Given the description of an element on the screen output the (x, y) to click on. 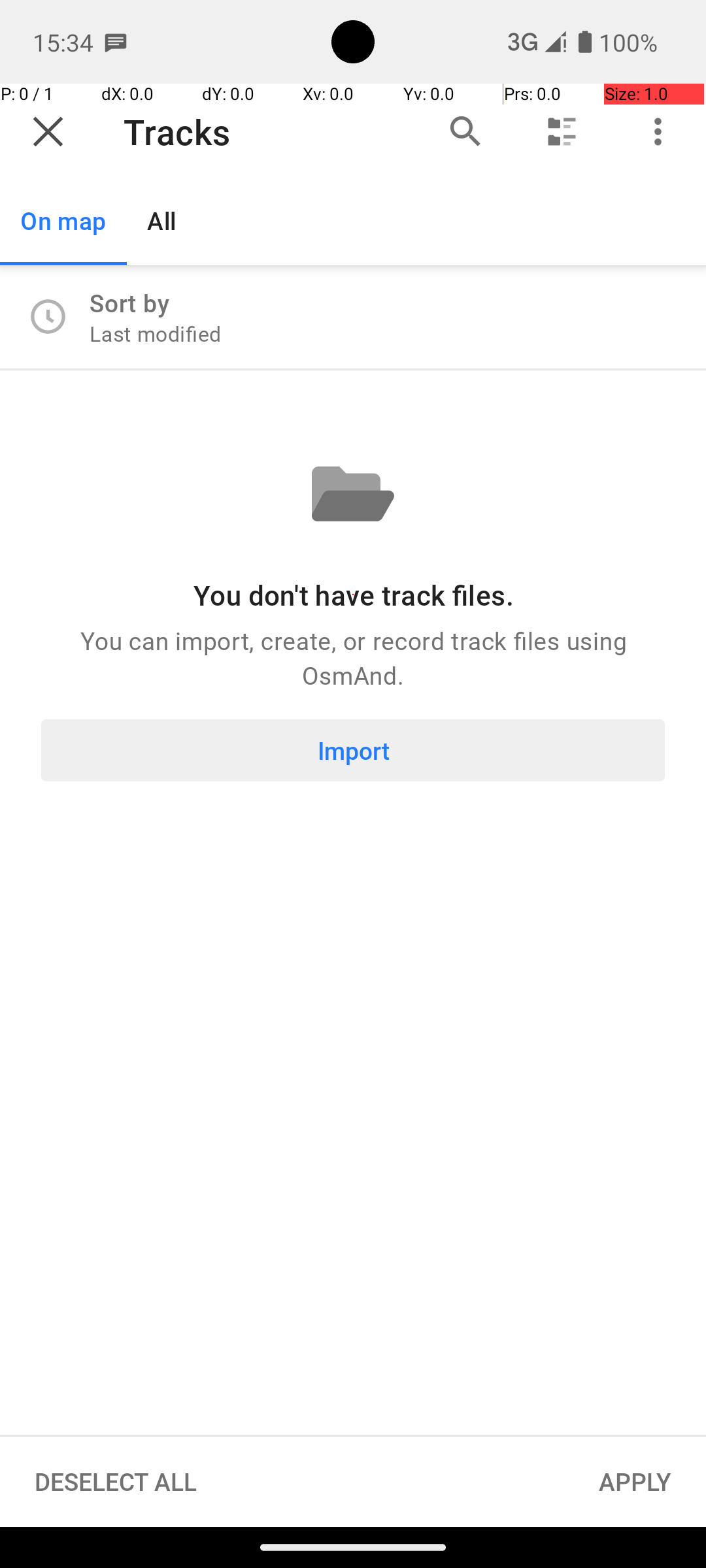
Tracks Element type: android.widget.TextView (256, 131)
Switch folder Element type: android.widget.ImageButton (561, 131)
More actions Element type: android.widget.ImageButton (657, 131)
DESELECT ALL Element type: android.widget.TextView (115, 1481)
APPLY Element type: android.widget.TextView (634, 1481)
On map Element type: android.widget.TextView (63, 220)
All Element type: android.widget.TextView (161, 220)
Last modified Element type: android.widget.TextView (155, 333)
You don't have track files. Element type: android.widget.TextView (352, 594)
You can import, create, or record track files using OsmAnd. Element type: android.widget.TextView (352, 657)
Import Element type: android.widget.TextView (352, 750)
